Given the description of an element on the screen output the (x, y) to click on. 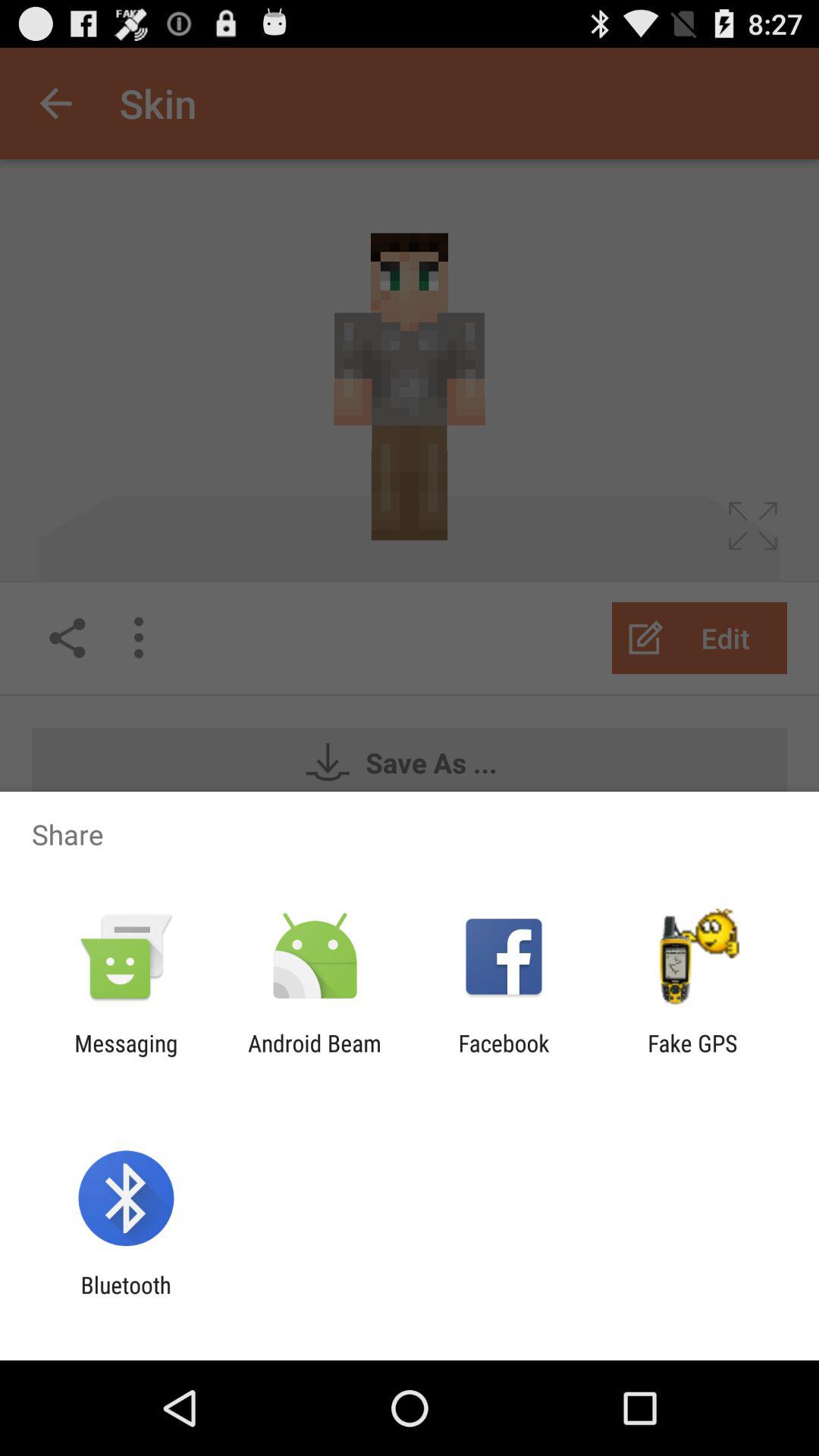
turn on the item to the left of fake gps icon (503, 1056)
